Given the description of an element on the screen output the (x, y) to click on. 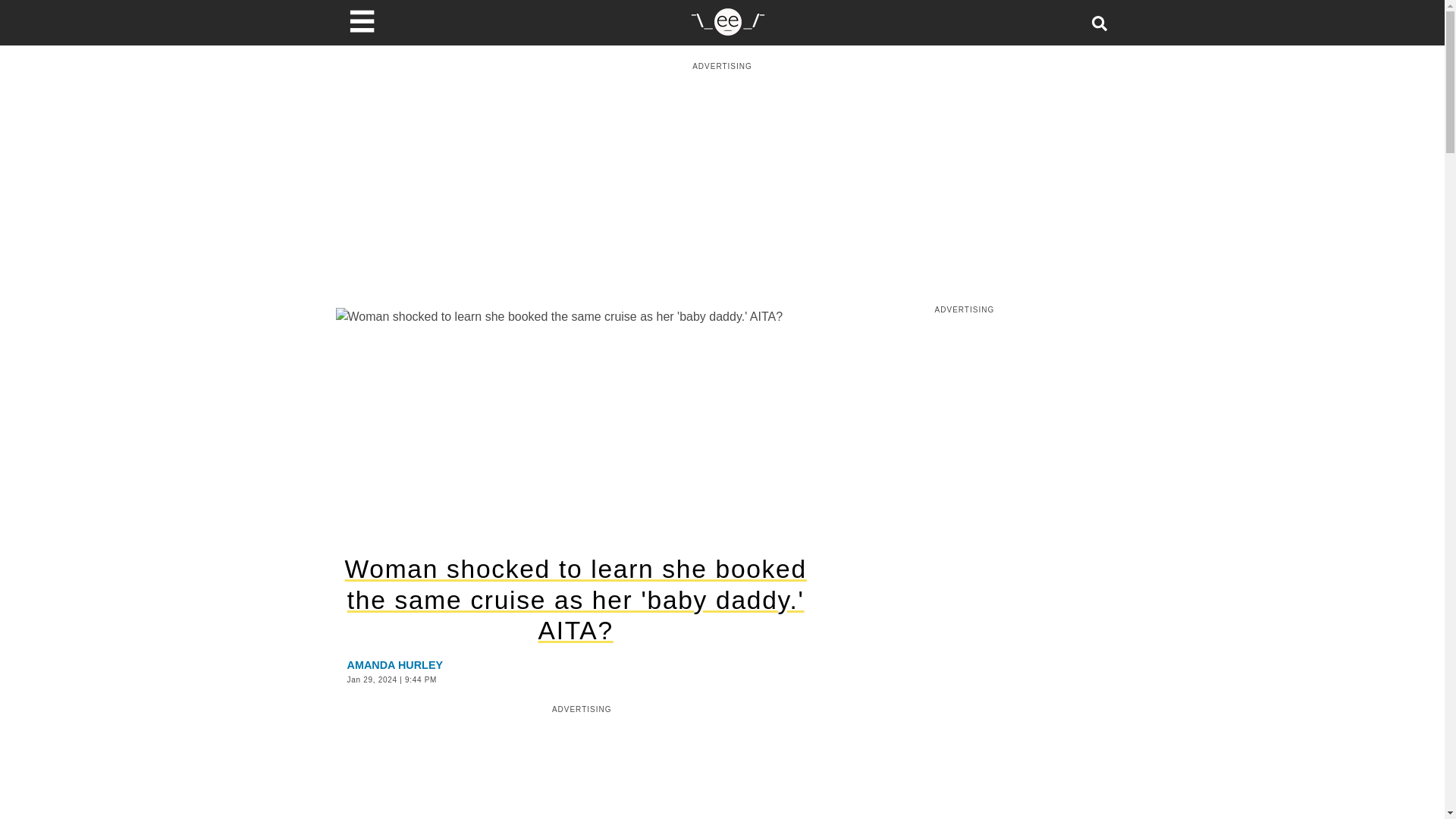
AMANDA HURLEY (395, 664)
